Given the description of an element on the screen output the (x, y) to click on. 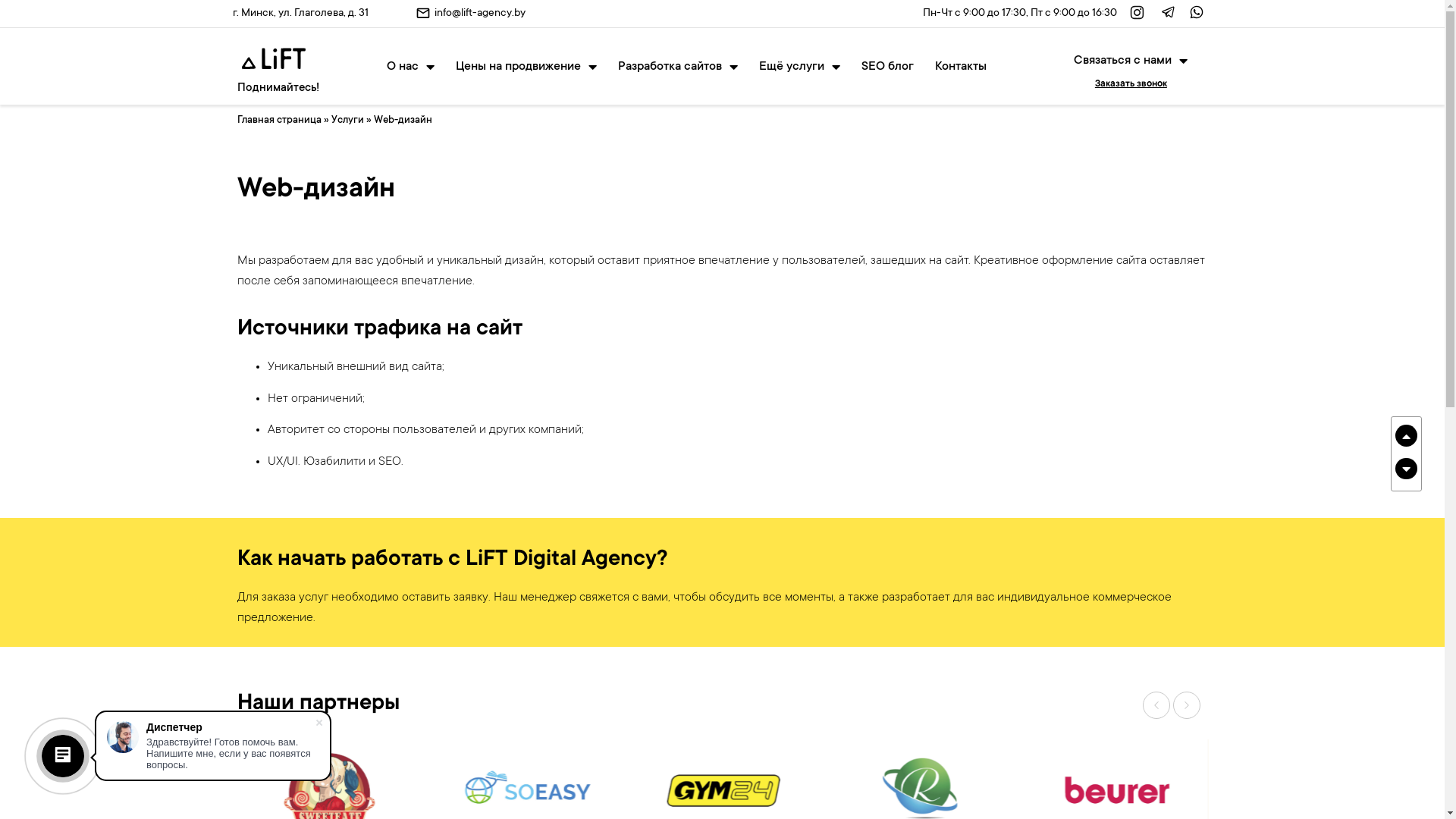
info@lift-agency.by Element type: text (479, 13)
